Given the description of an element on the screen output the (x, y) to click on. 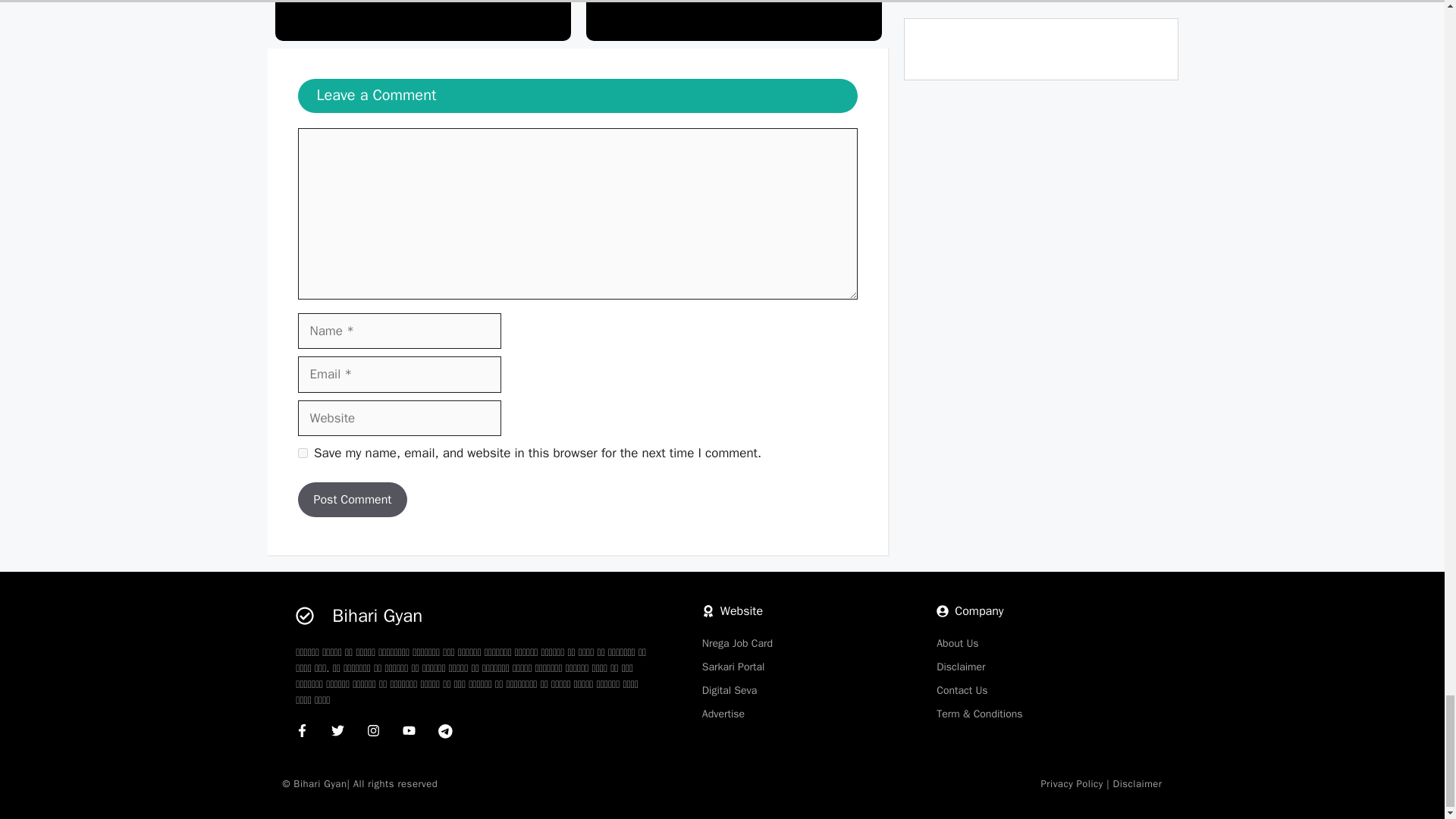
Post Comment (352, 499)
Post Comment (352, 499)
yes (302, 452)
